Given the description of an element on the screen output the (x, y) to click on. 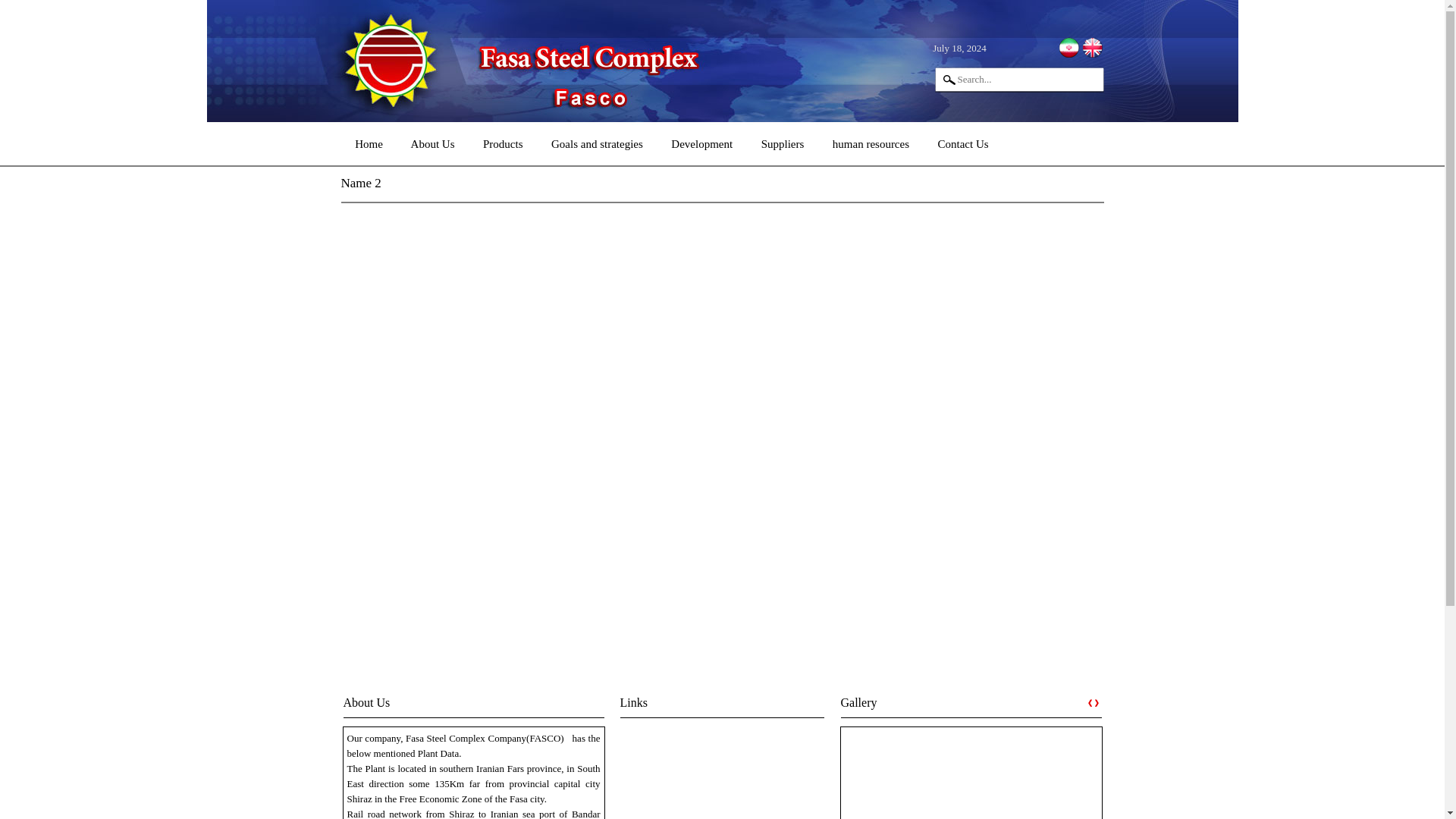
     Products      (502, 143)
     human resources      (870, 143)
     Development      (702, 143)
     About Us      (432, 143)
     Suppliers      (782, 143)
     Home      (368, 143)
     Goals and strategies      (596, 143)
     Contact Us      (963, 143)
